Given the description of an element on the screen output the (x, y) to click on. 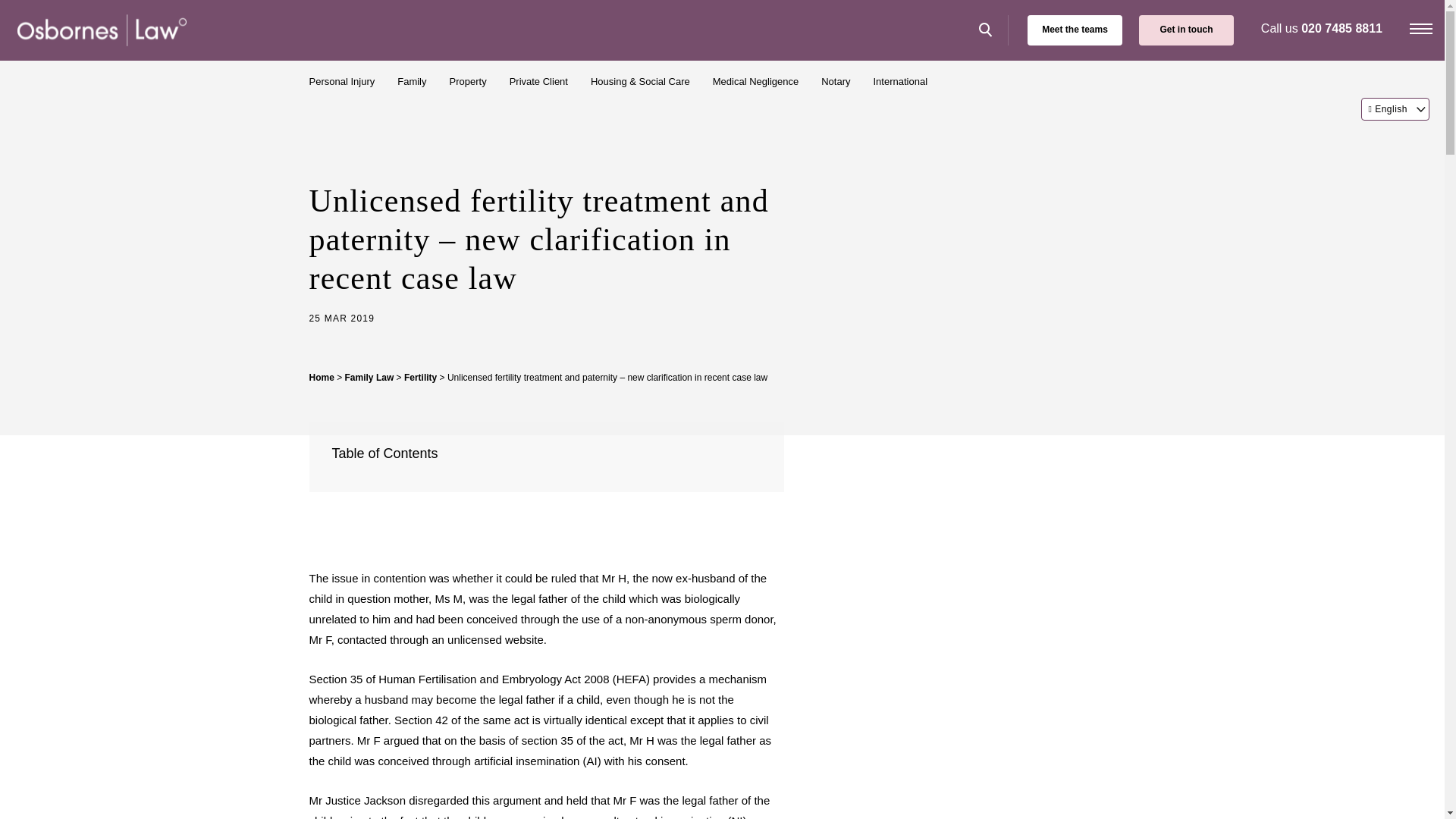
Search (990, 30)
Search (990, 30)
Get in touch (1185, 30)
Property (470, 81)
Home (321, 377)
Notary (839, 81)
Personal Injury (345, 81)
Meet the teams (1074, 30)
International (900, 81)
020 7485 8811 (1341, 28)
Fertility (420, 377)
Family Law (369, 377)
Family (415, 81)
Medical Negligence (759, 81)
Private Client (542, 81)
